Given the description of an element on the screen output the (x, y) to click on. 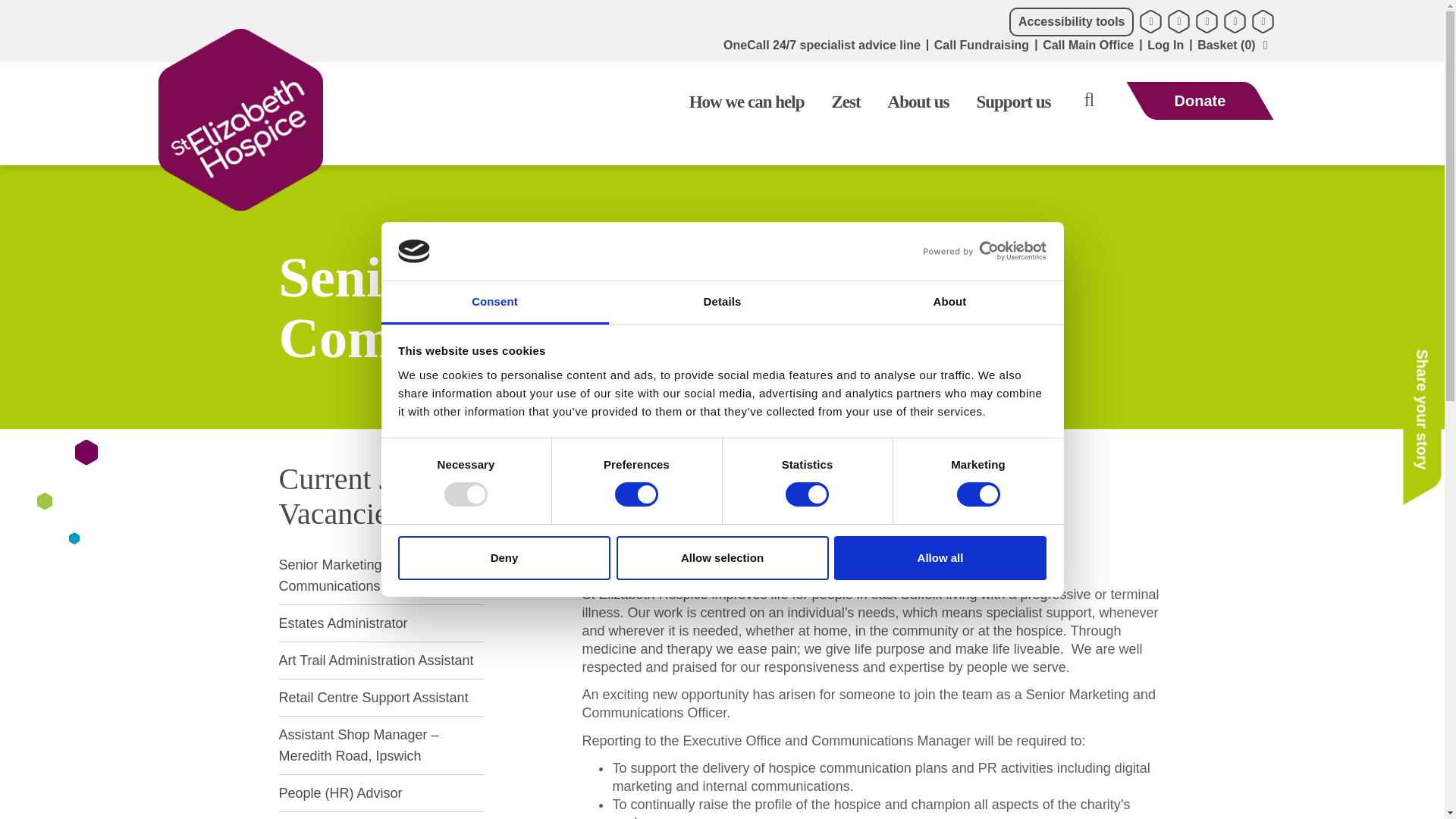
Details (721, 302)
About (948, 302)
Consent (494, 302)
